Given the description of an element on the screen output the (x, y) to click on. 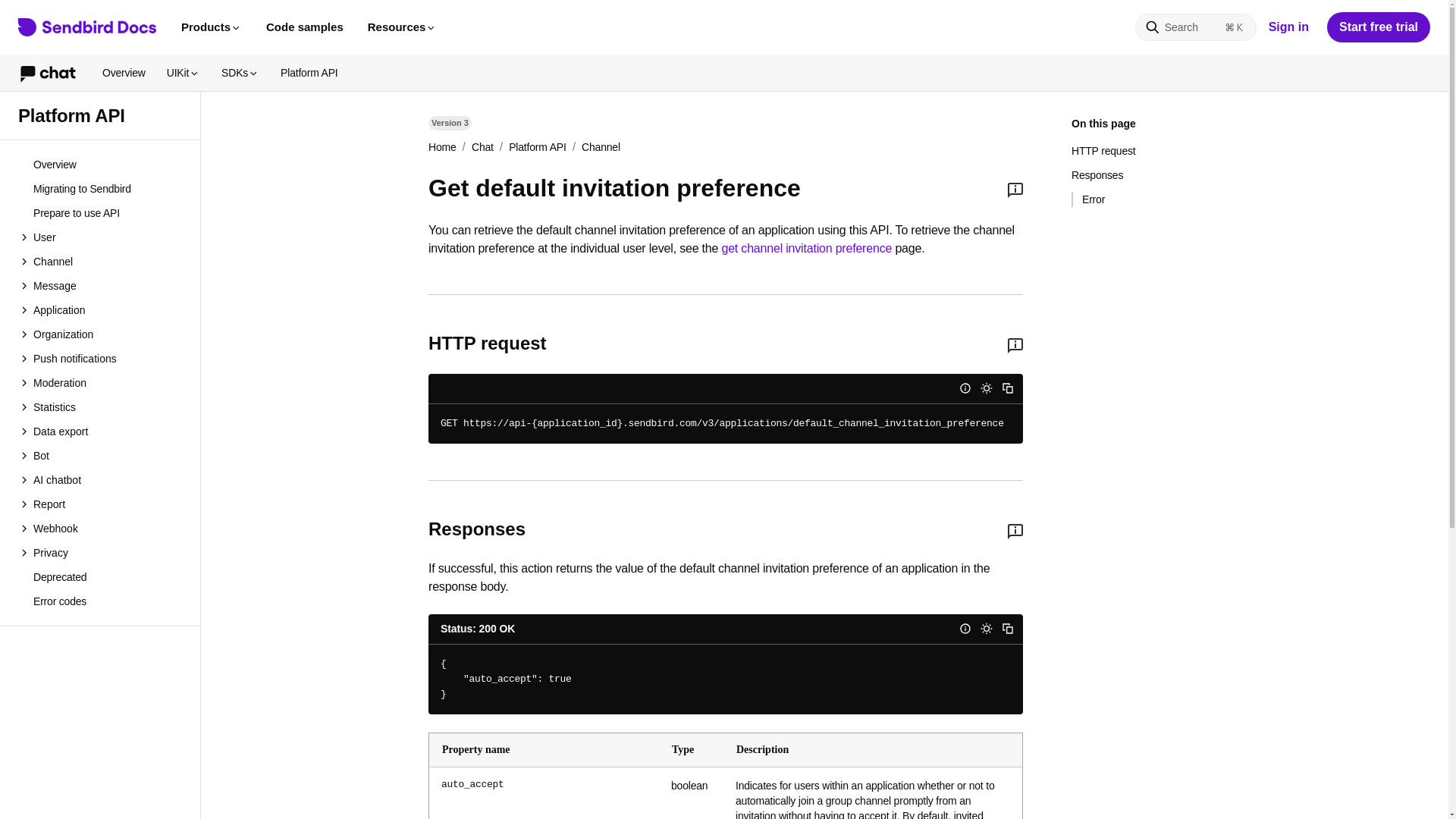
Products (210, 27)
Code samples (304, 27)
Search (1195, 26)
SDKs (239, 72)
Start free trial (1377, 27)
Resources (402, 27)
Sign in (1288, 26)
Overview (123, 72)
UIKit (183, 72)
